Given the description of an element on the screen output the (x, y) to click on. 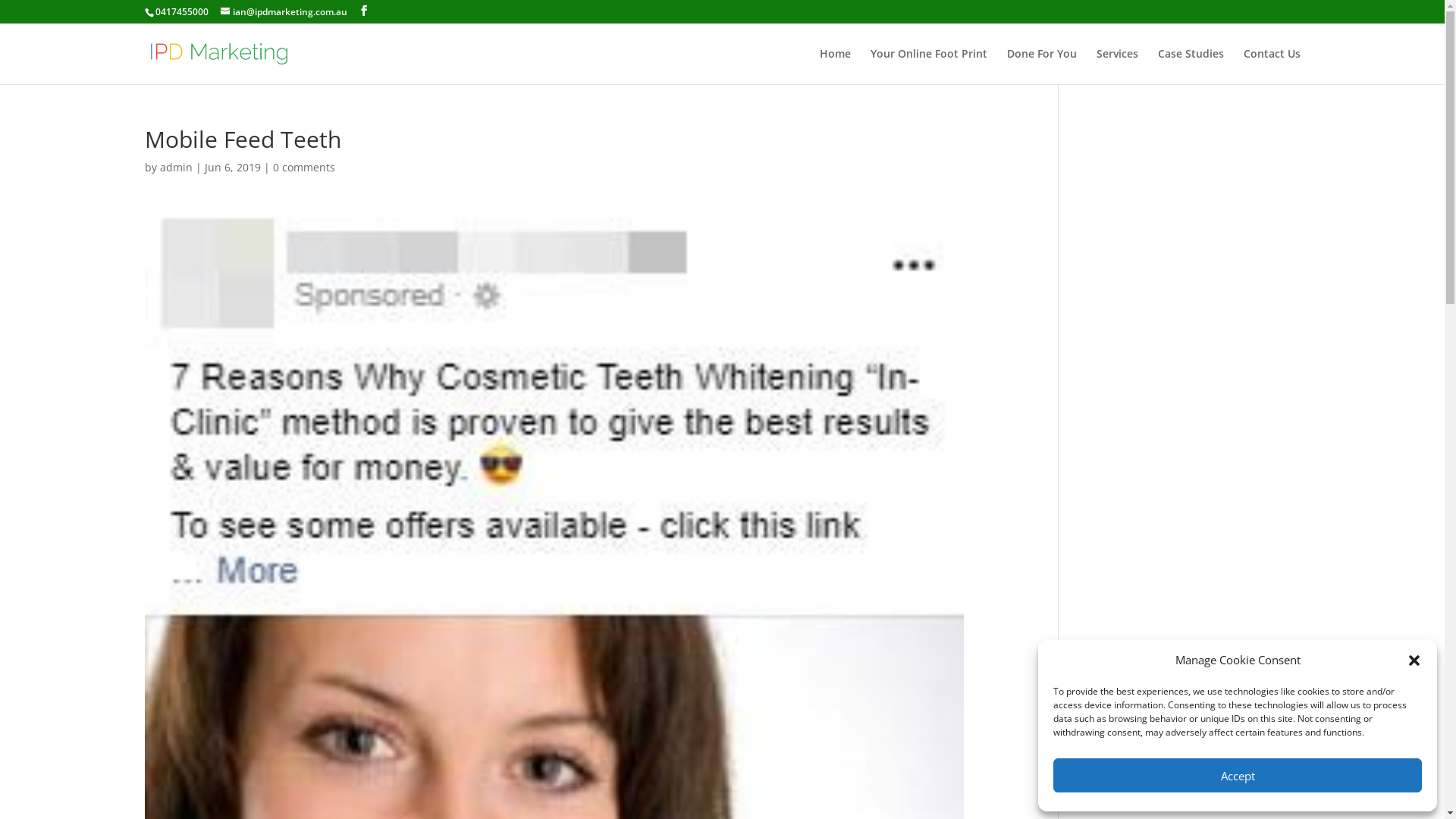
Contact Us Element type: text (1271, 66)
ian@ipdmarketing.com.au Element type: text (282, 11)
Done For You Element type: text (1041, 66)
Case Studies Element type: text (1190, 66)
Services Element type: text (1117, 66)
Accept Element type: text (1237, 775)
admin Element type: text (175, 167)
Home Element type: text (834, 66)
0 comments Element type: text (304, 167)
Your Online Foot Print Element type: text (928, 66)
